Given the description of an element on the screen output the (x, y) to click on. 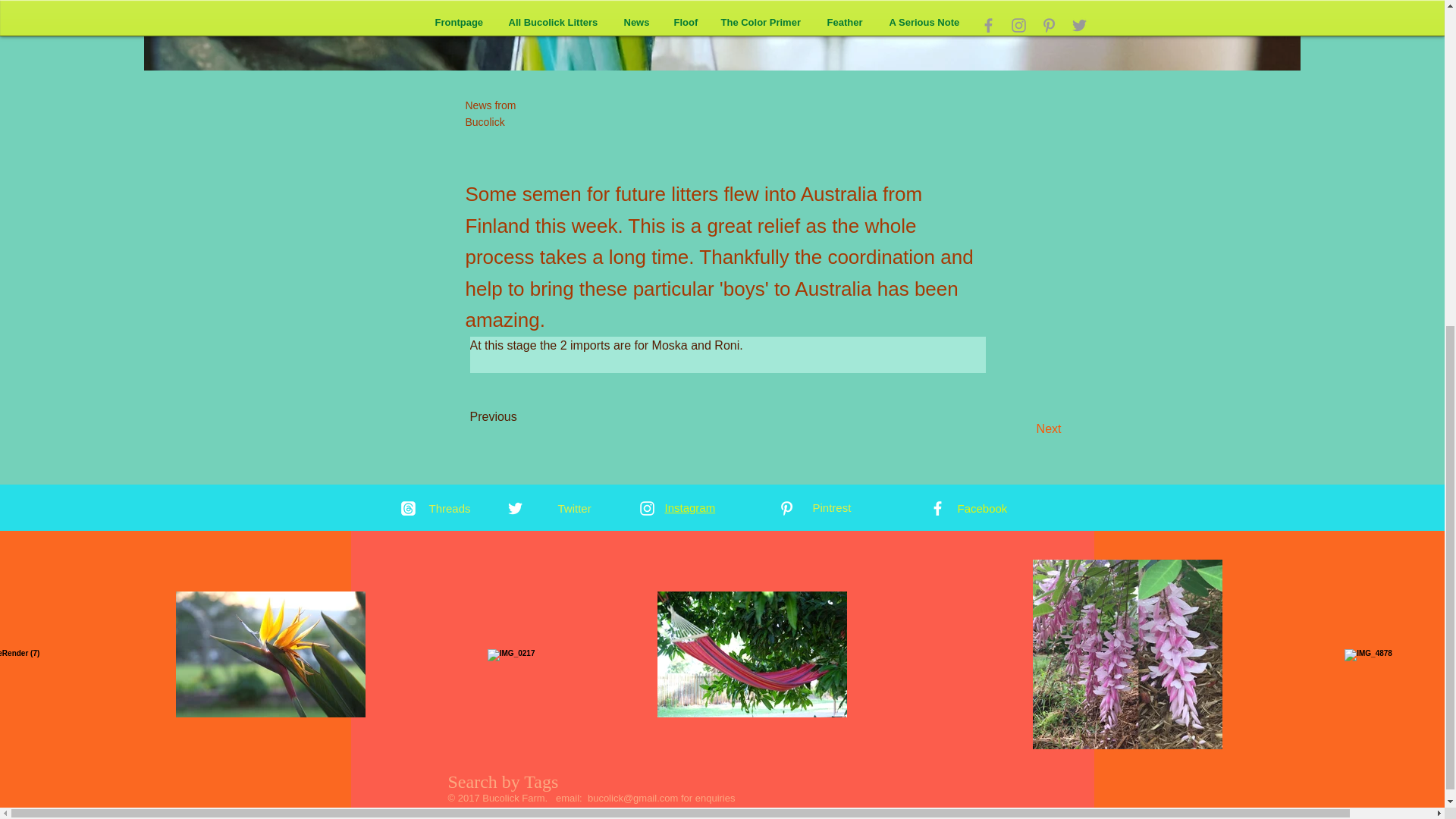
Previous (520, 417)
Twitter (574, 508)
Next (1023, 429)
Instagram (688, 507)
Threads (449, 508)
Facebook (981, 508)
Pintrest (831, 507)
